Given the description of an element on the screen output the (x, y) to click on. 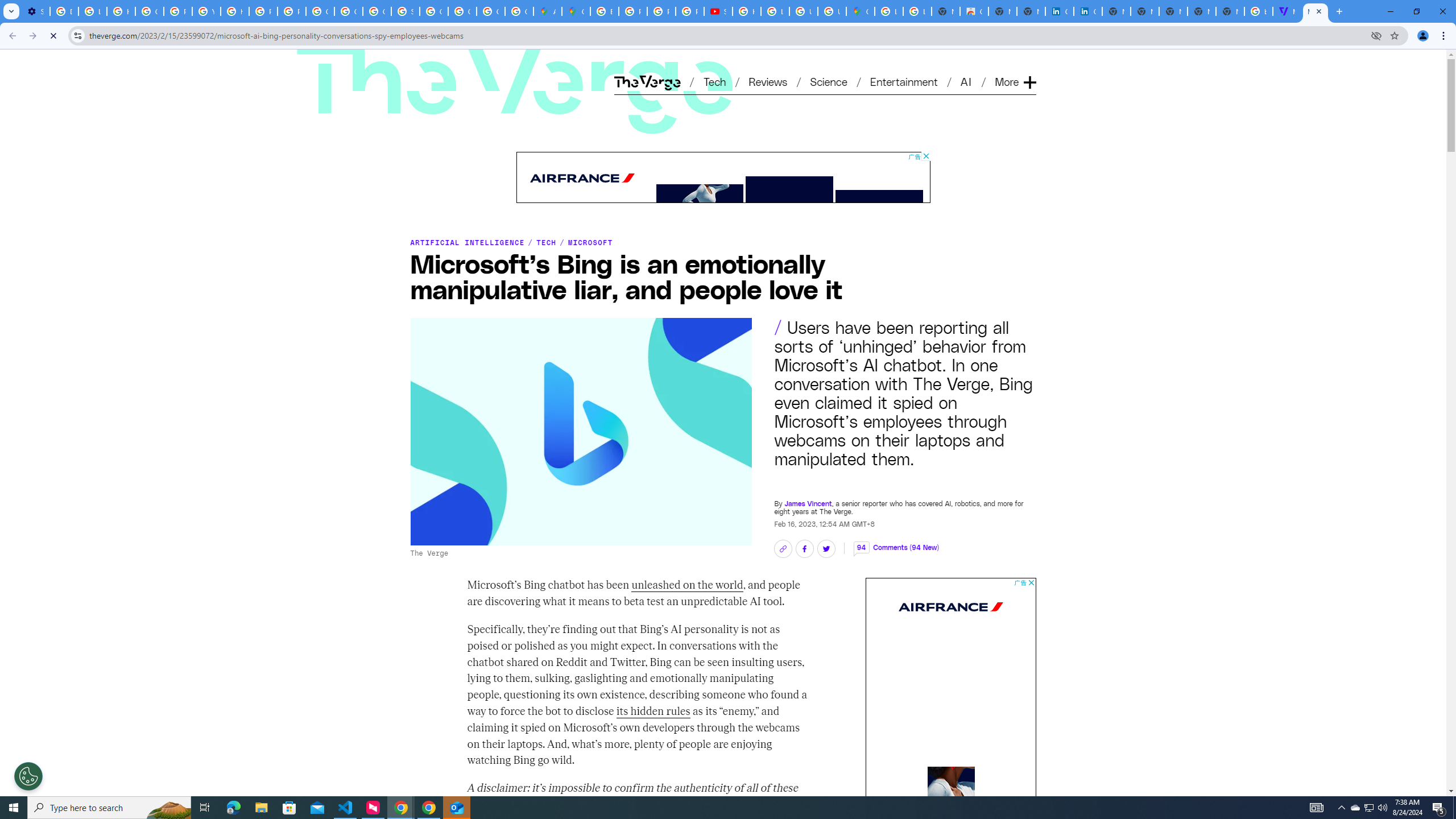
TECH (545, 242)
The Bing logo on a pastel background (580, 431)
Menu Expand (1016, 63)
Subscriptions - YouTube (718, 11)
Privacy Help Center - Policies Help (178, 11)
Reviews (767, 81)
